Given the description of an element on the screen output the (x, y) to click on. 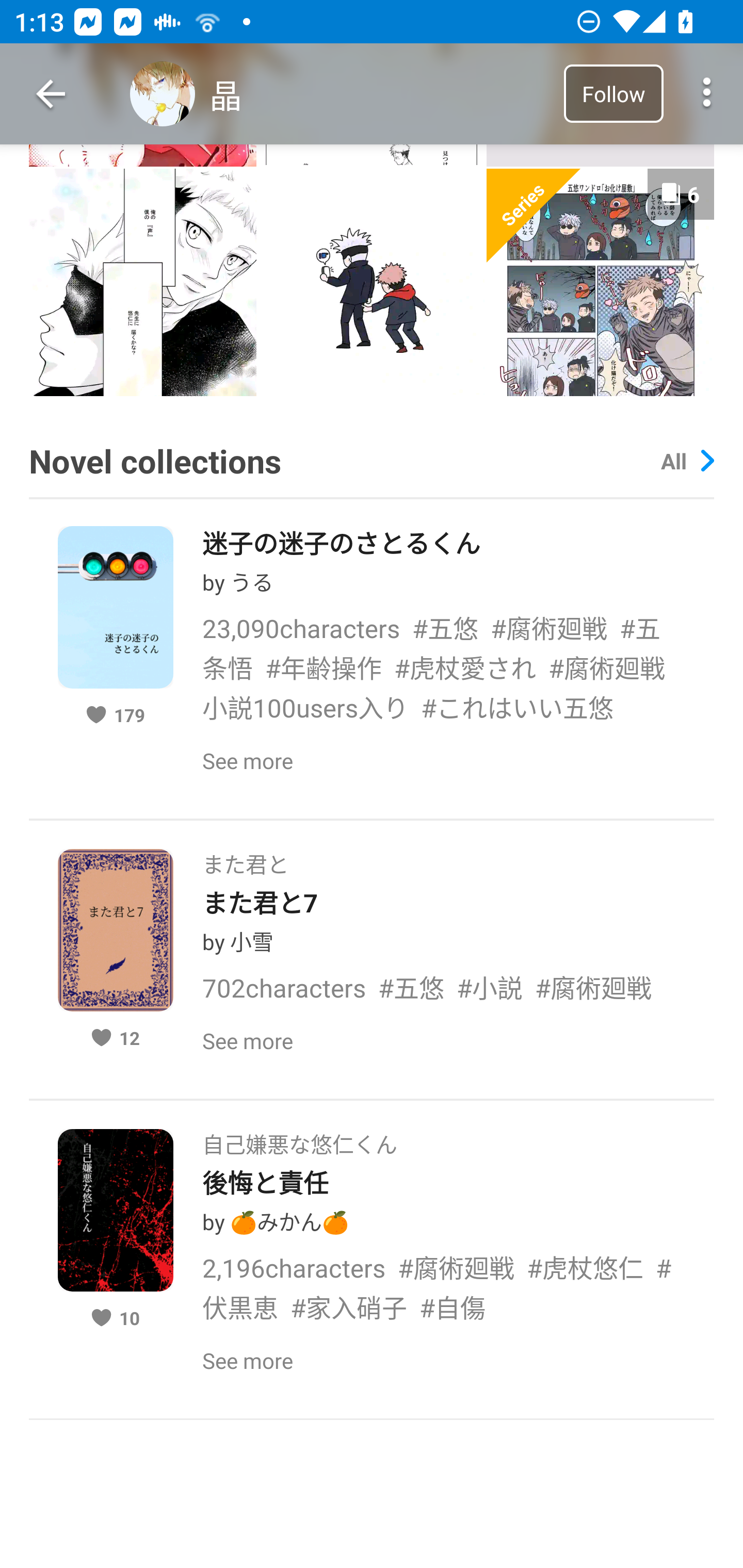
Navigate up (50, 93)
More options (706, 93)
Follow (613, 93)
Series 6 (600, 282)
Series (533, 215)
All (687, 460)
また君と (245, 858)
自己嫌悪な悠仁くん (299, 1138)
